Given the description of an element on the screen output the (x, y) to click on. 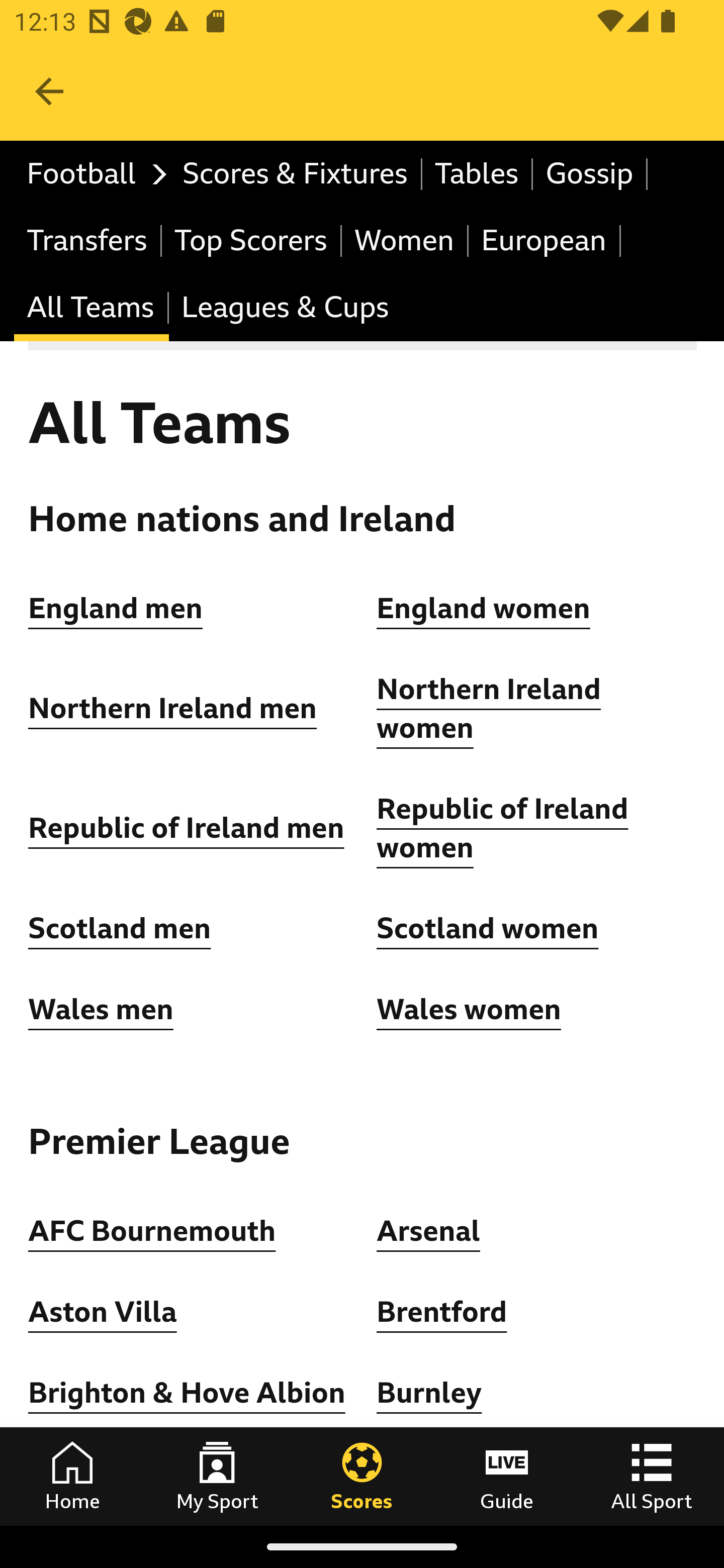
Navigate up (49, 91)
Football (91, 173)
Scores & Fixtures (295, 173)
Tables (477, 173)
Gossip (590, 173)
Transfers (88, 240)
Top Scorers (251, 240)
Women (405, 240)
European (544, 240)
All Teams (91, 308)
Leagues & Cups (284, 308)
England men (116, 608)
England women (483, 608)
Northern Ireland women (488, 709)
Northern Ireland men (173, 708)
Republic of Ireland women (502, 828)
Republic of Ireland men (186, 827)
Scotland men (120, 929)
Scotland women (487, 929)
Wales men (100, 1009)
Wales women (468, 1009)
AFC Bournemouth (151, 1230)
Arsenal (428, 1230)
Aston Villa (102, 1312)
Brentford (442, 1312)
Brighton & Hove Albion (187, 1393)
Burnley (429, 1393)
Home (72, 1475)
My Sport (216, 1475)
Guide (506, 1475)
All Sport (651, 1475)
